Given the description of an element on the screen output the (x, y) to click on. 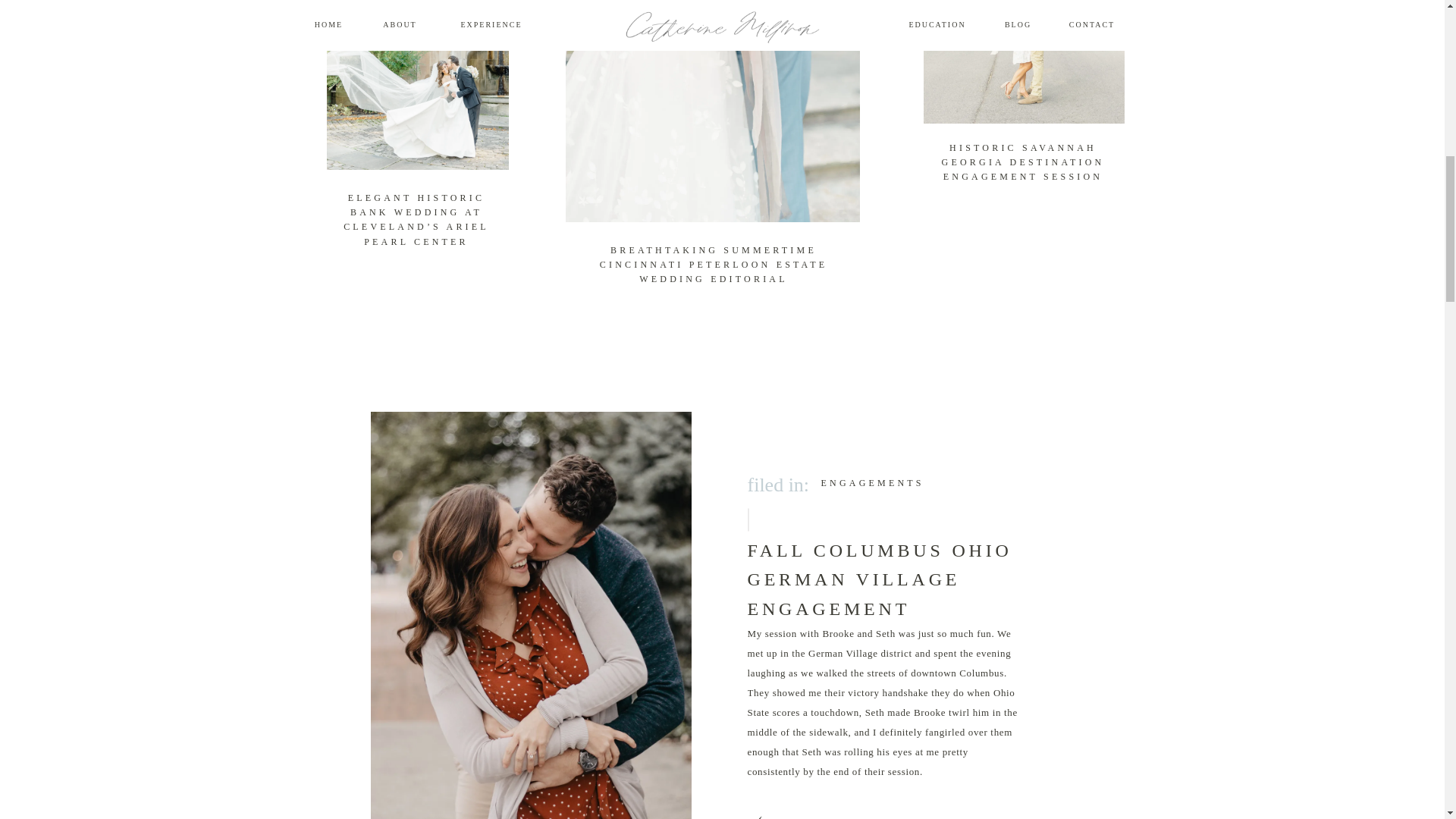
Fall Columbus Ohio German Village Engagement (769, 813)
arrow (1104, 221)
arrow (769, 813)
Historic Savannah Georgia Destination Engagement Session (1023, 61)
